Given the description of an element on the screen output the (x, y) to click on. 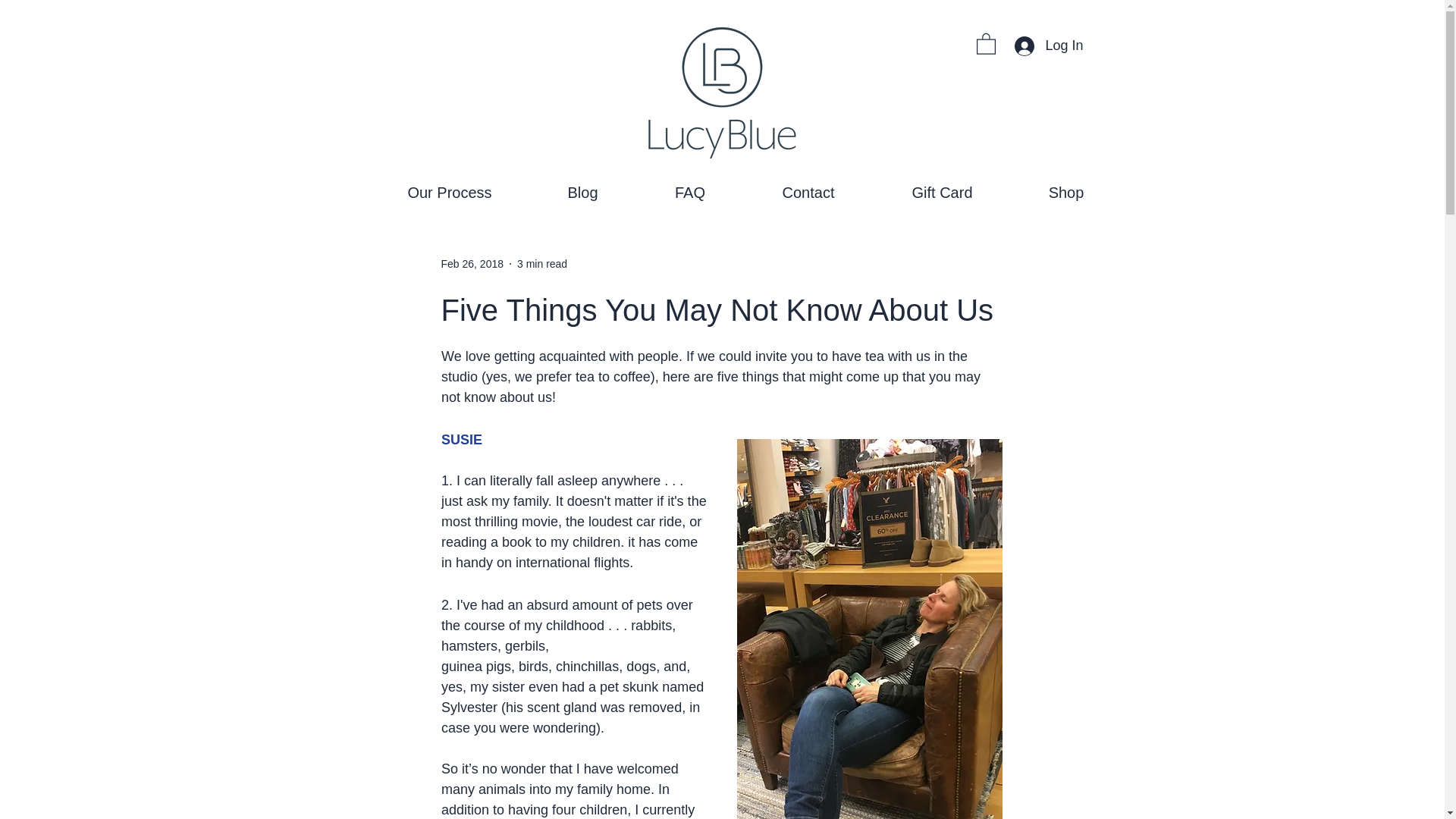
FAQ (690, 192)
Our Process (451, 192)
Contact (807, 192)
Shop (1064, 192)
Feb 26, 2018 (472, 263)
3 min read (541, 263)
Log In (1048, 46)
Gift Card (942, 192)
Blog (583, 192)
